Given the description of an element on the screen output the (x, y) to click on. 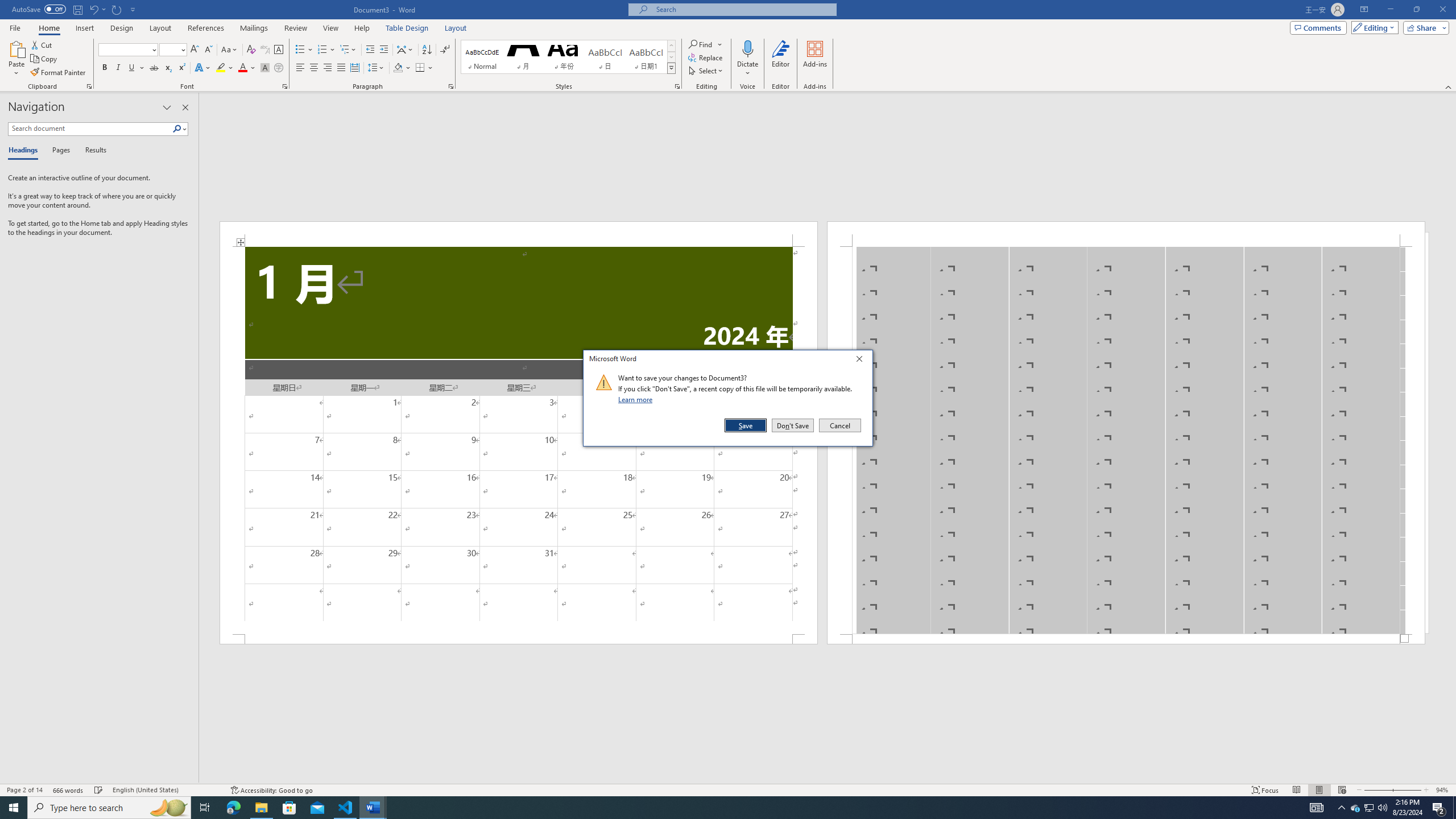
Cut (42, 44)
Footer -Section 1- (1126, 638)
